Given the description of an element on the screen output the (x, y) to click on. 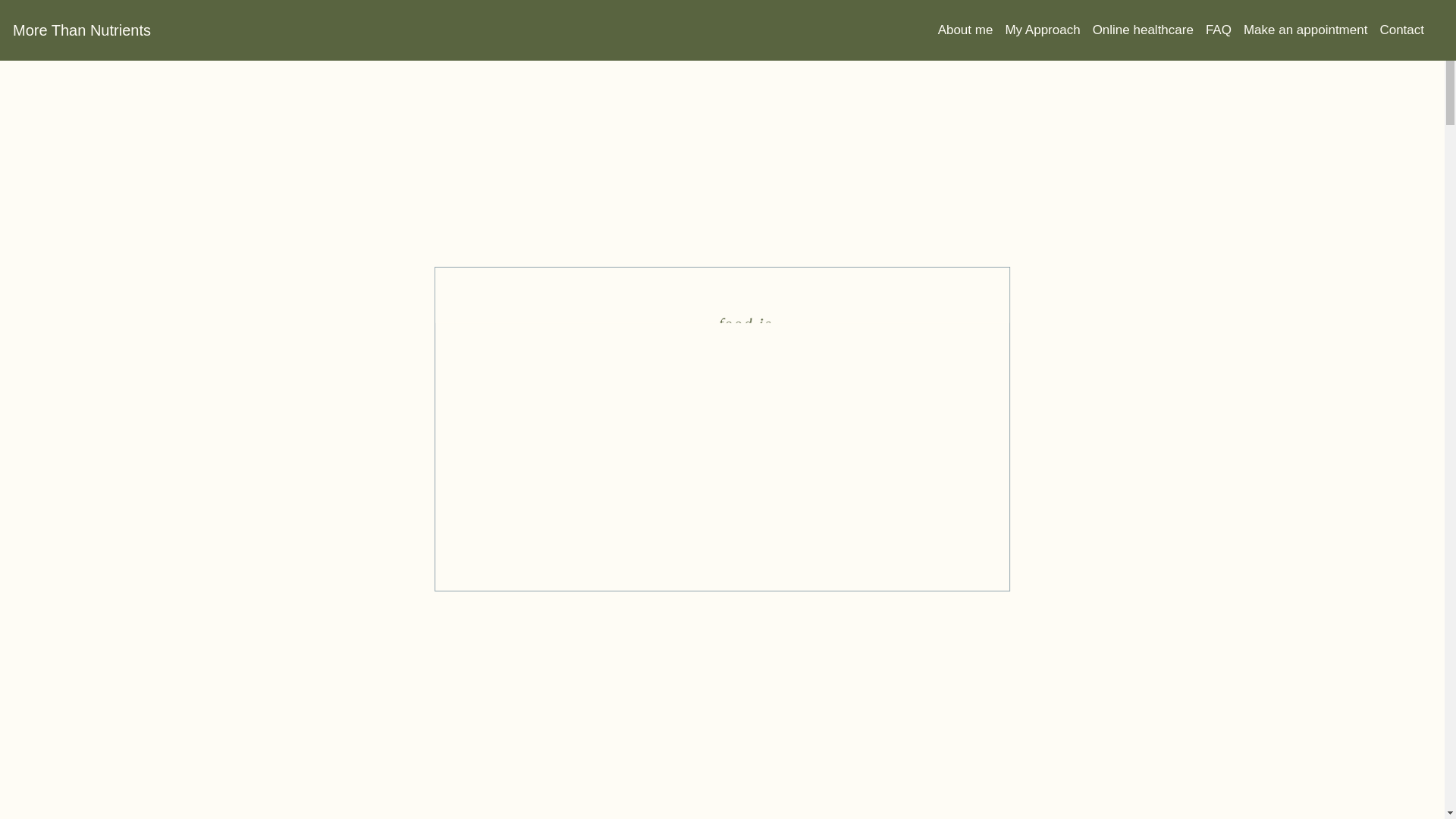
Contact (1407, 29)
My Approach (1048, 29)
About me (971, 29)
Online healthcare (1149, 29)
Make an appointment (1312, 29)
More Than Nutrients (82, 30)
